Given the description of an element on the screen output the (x, y) to click on. 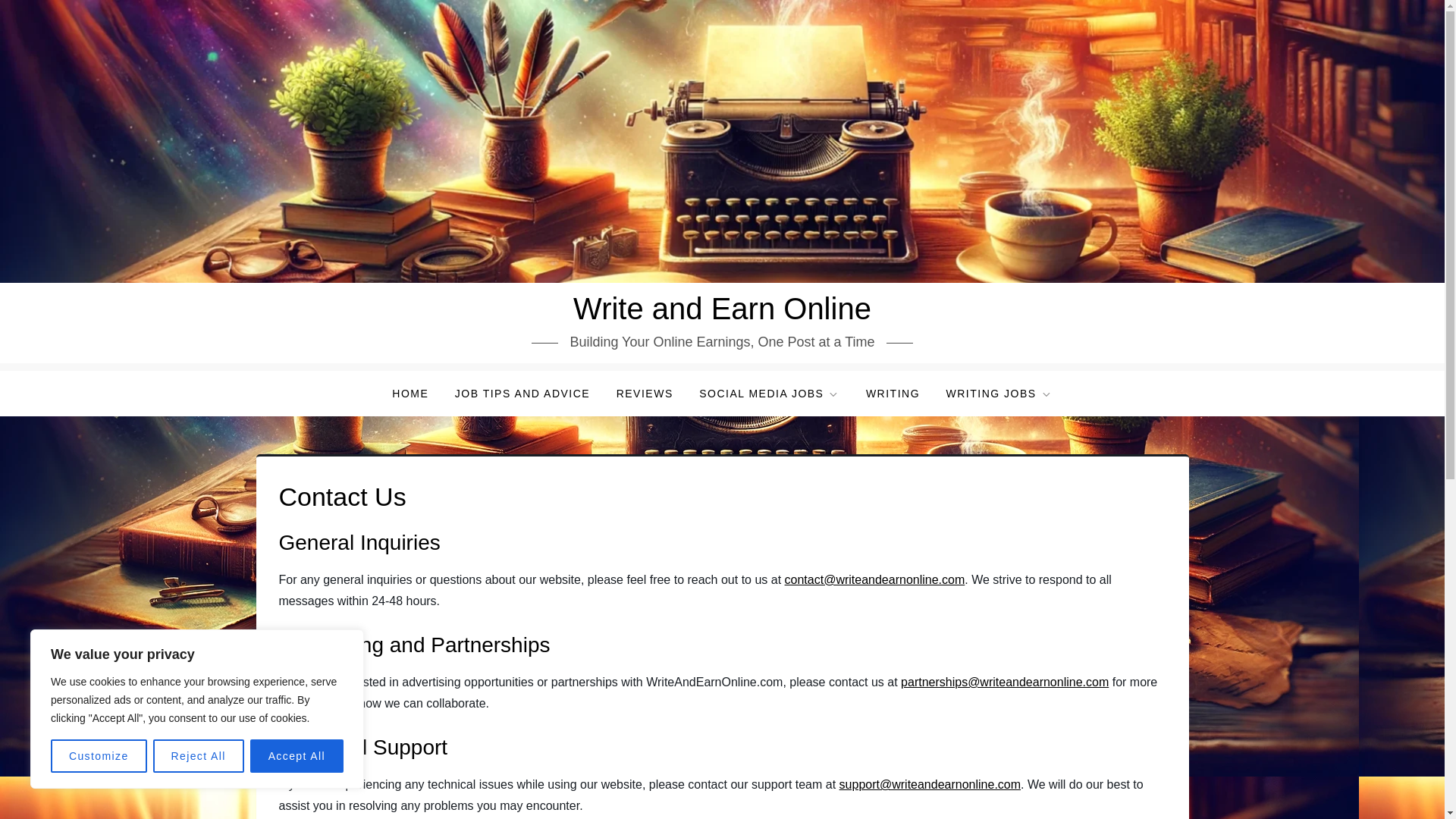
SOCIAL MEDIA JOBS (768, 393)
Write and Earn Online (721, 308)
HOME (409, 393)
REVIEWS (644, 393)
Customize (98, 756)
JOB TIPS AND ADVICE (522, 393)
Reject All (198, 756)
WRITING (892, 393)
WRITING JOBS (999, 393)
Accept All (296, 756)
